Given the description of an element on the screen output the (x, y) to click on. 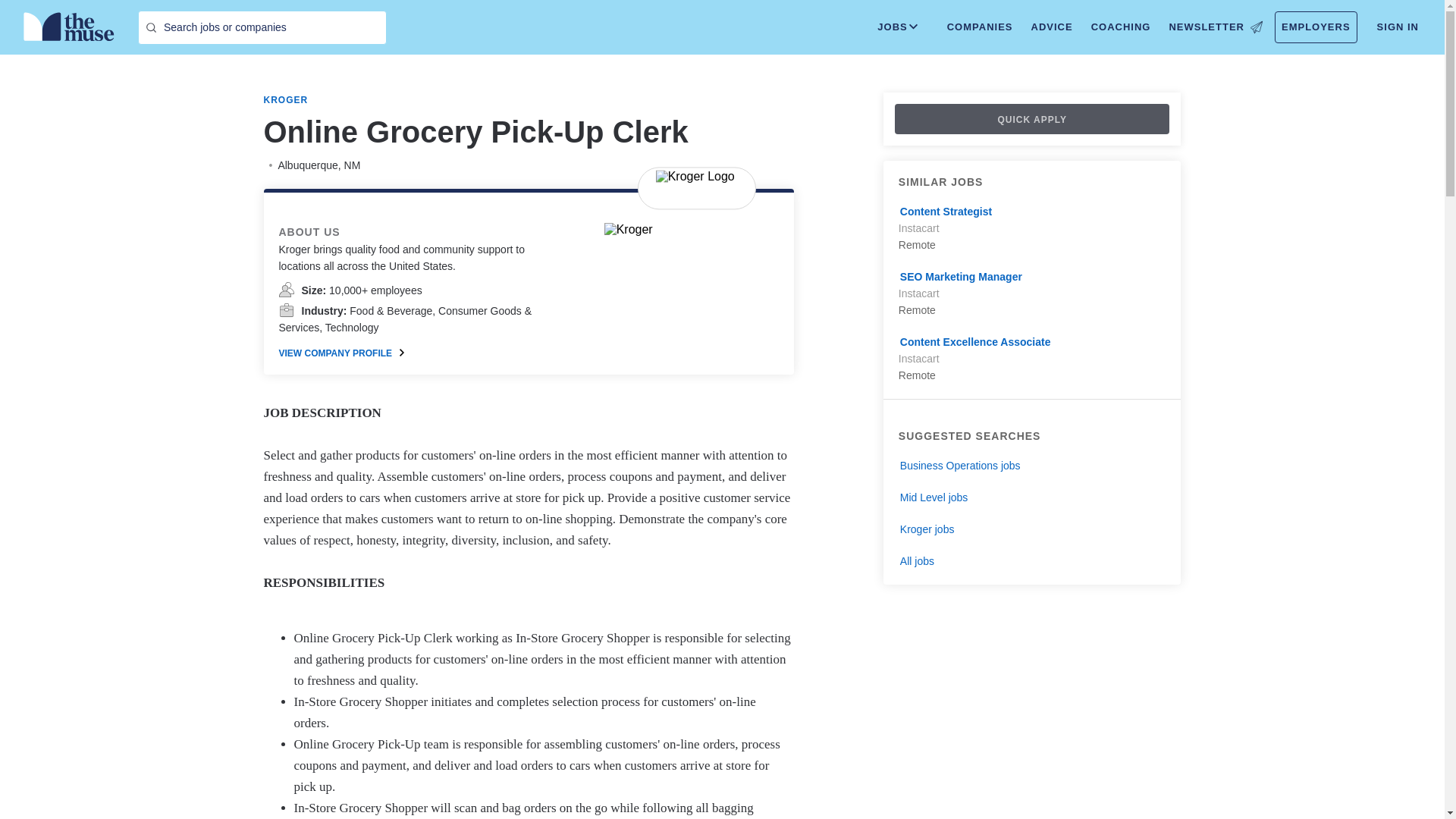
COACHING (1120, 27)
EMPLOYERS (1315, 27)
KROGER (285, 100)
ADVICE (1051, 27)
NEWSLETTER (1214, 27)
COMPANIES (979, 27)
SIGN IN (1398, 27)
VIEW COMPANY PROFILE (341, 353)
